Given the description of an element on the screen output the (x, y) to click on. 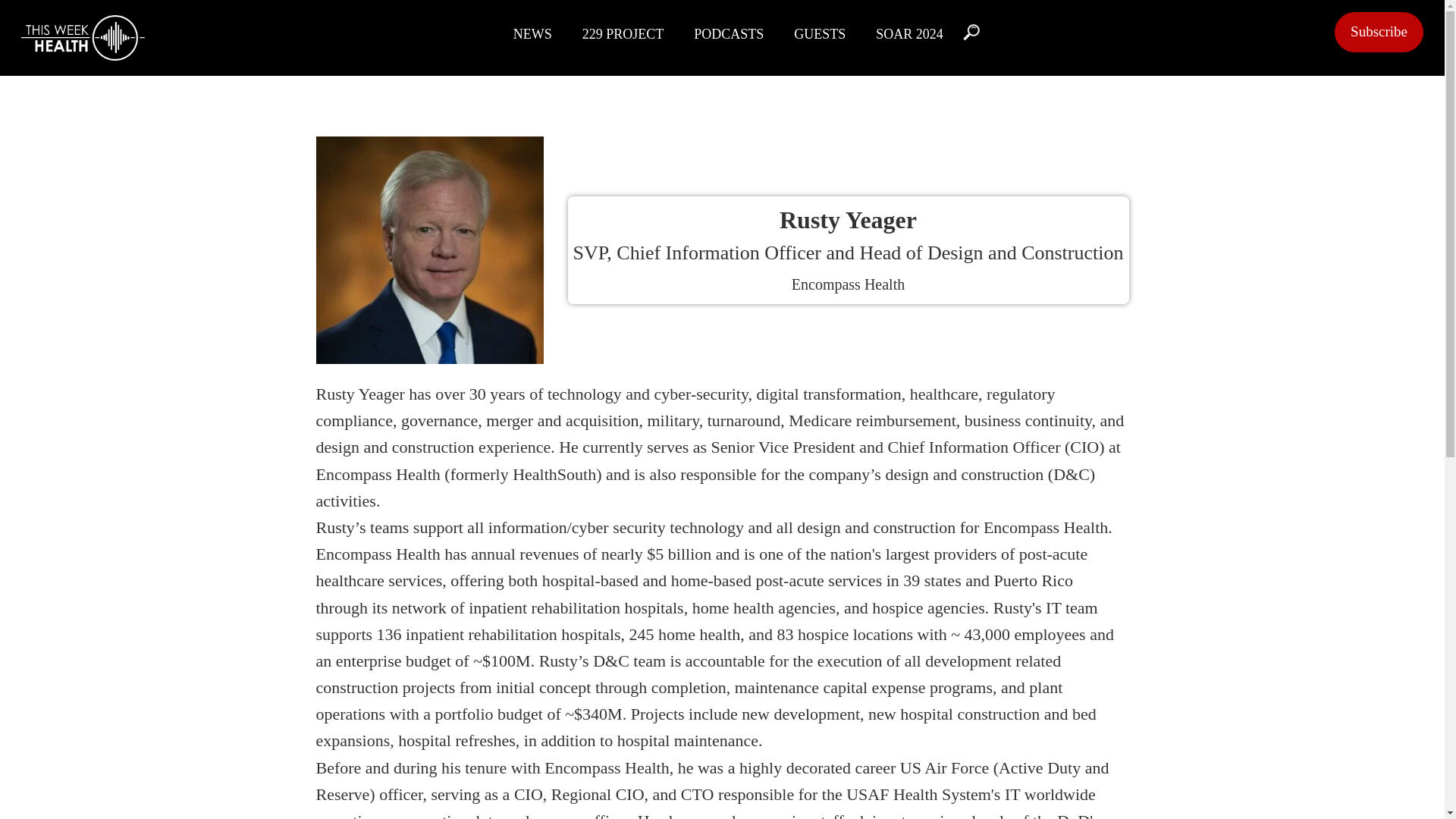
NEWS (532, 32)
PODCASTS (728, 32)
SOAR 2024 (909, 32)
229 PROJECT (623, 32)
GUESTS (819, 32)
Subscribe (1379, 31)
